Given the description of an element on the screen output the (x, y) to click on. 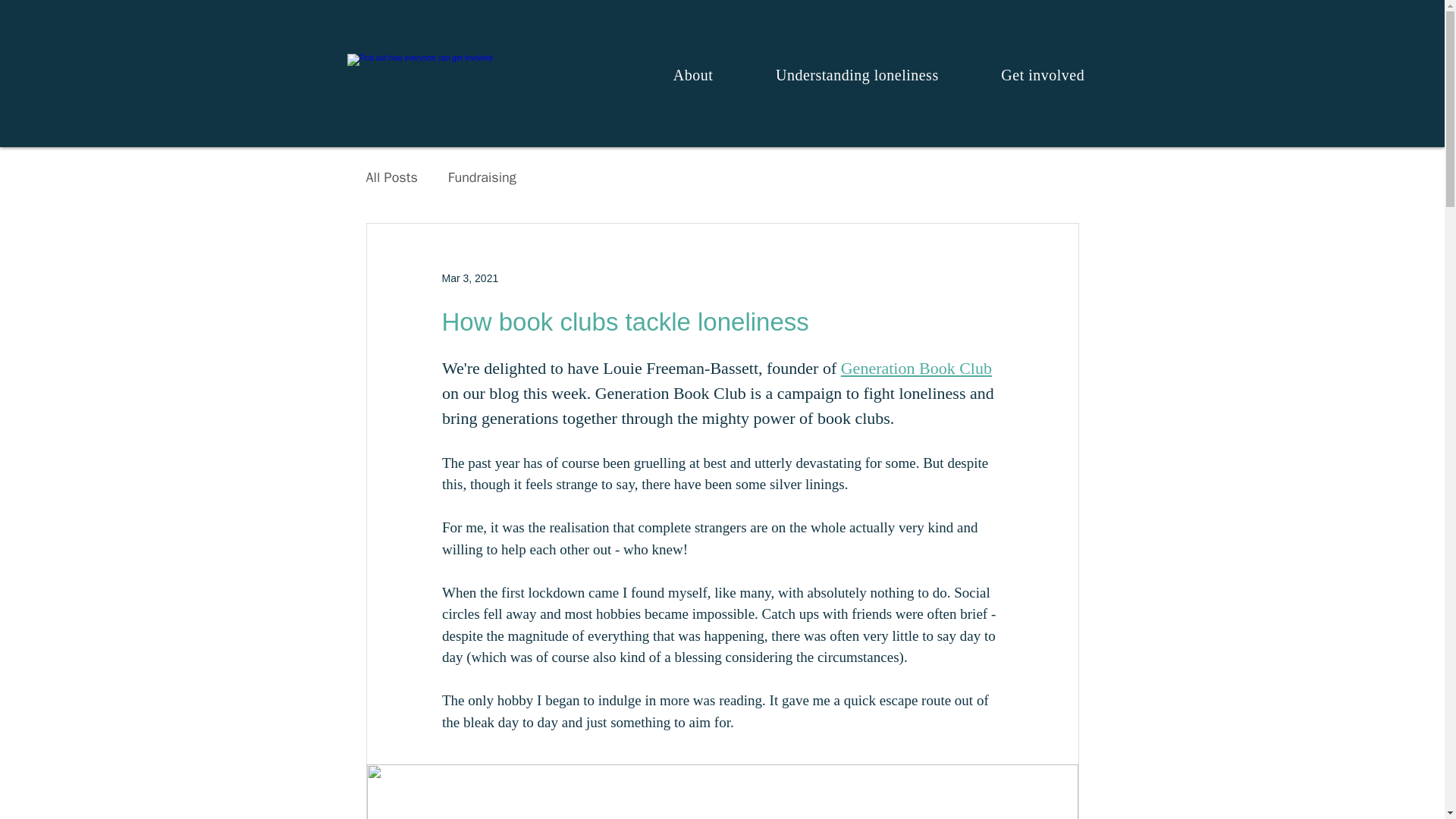
Get involved (1042, 74)
All Posts (390, 177)
Understanding loneliness (857, 74)
Fundraising (482, 177)
Mar 3, 2021 (469, 277)
Generation Book Club (669, 393)
Generation Book Club (915, 367)
